Given the description of an element on the screen output the (x, y) to click on. 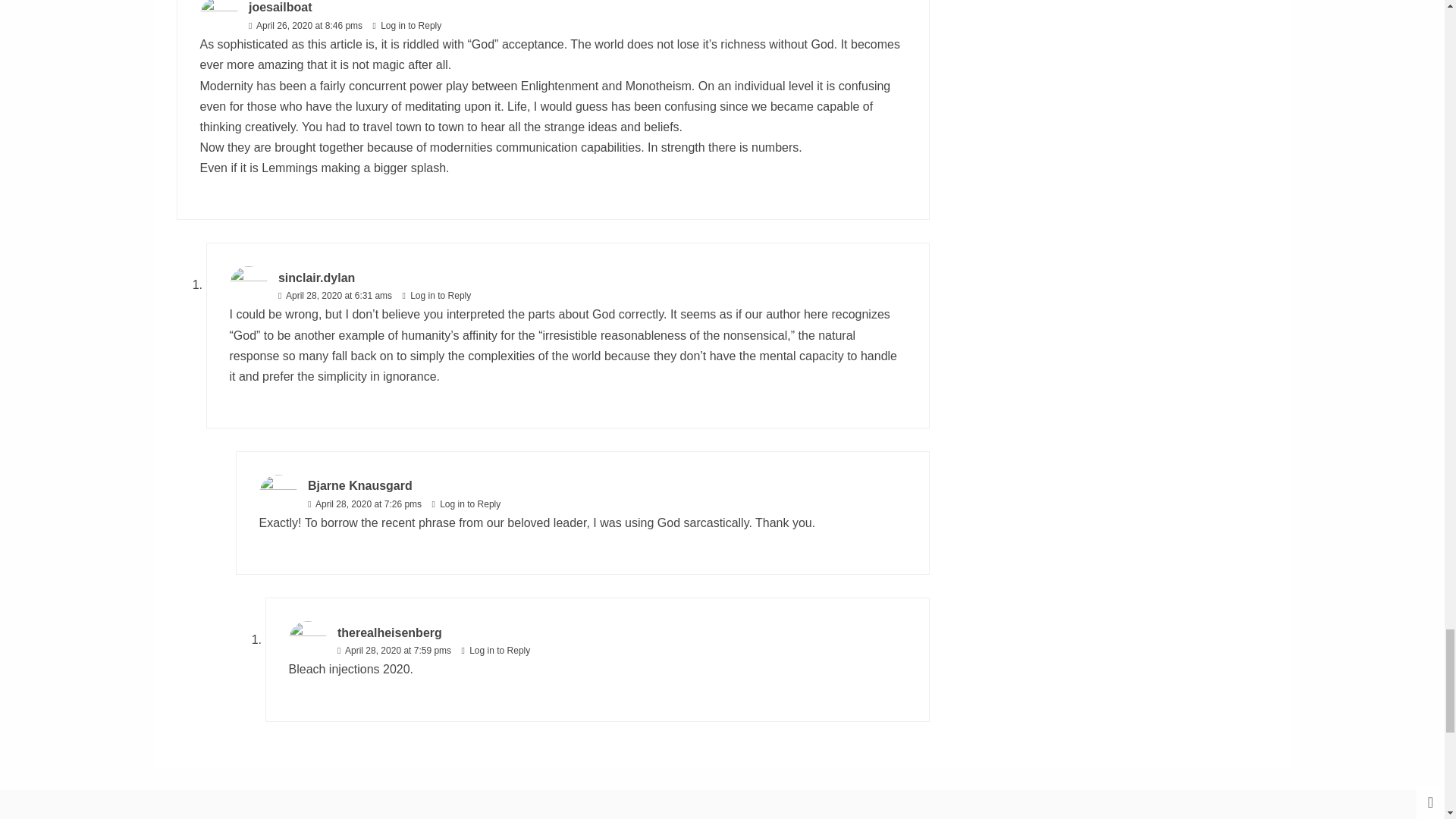
April 28, 2020 at 7:26 pms (367, 503)
Log in to Reply (498, 650)
April 28, 2020 at 6:31 ams (337, 295)
April 28, 2020 at 7:59 pms (396, 650)
Bjarne Knausgard (359, 485)
April 26, 2020 at 8:46 pms (307, 25)
Log in to Reply (410, 25)
Log in to Reply (469, 503)
Log in to Reply (440, 295)
